Given the description of an element on the screen output the (x, y) to click on. 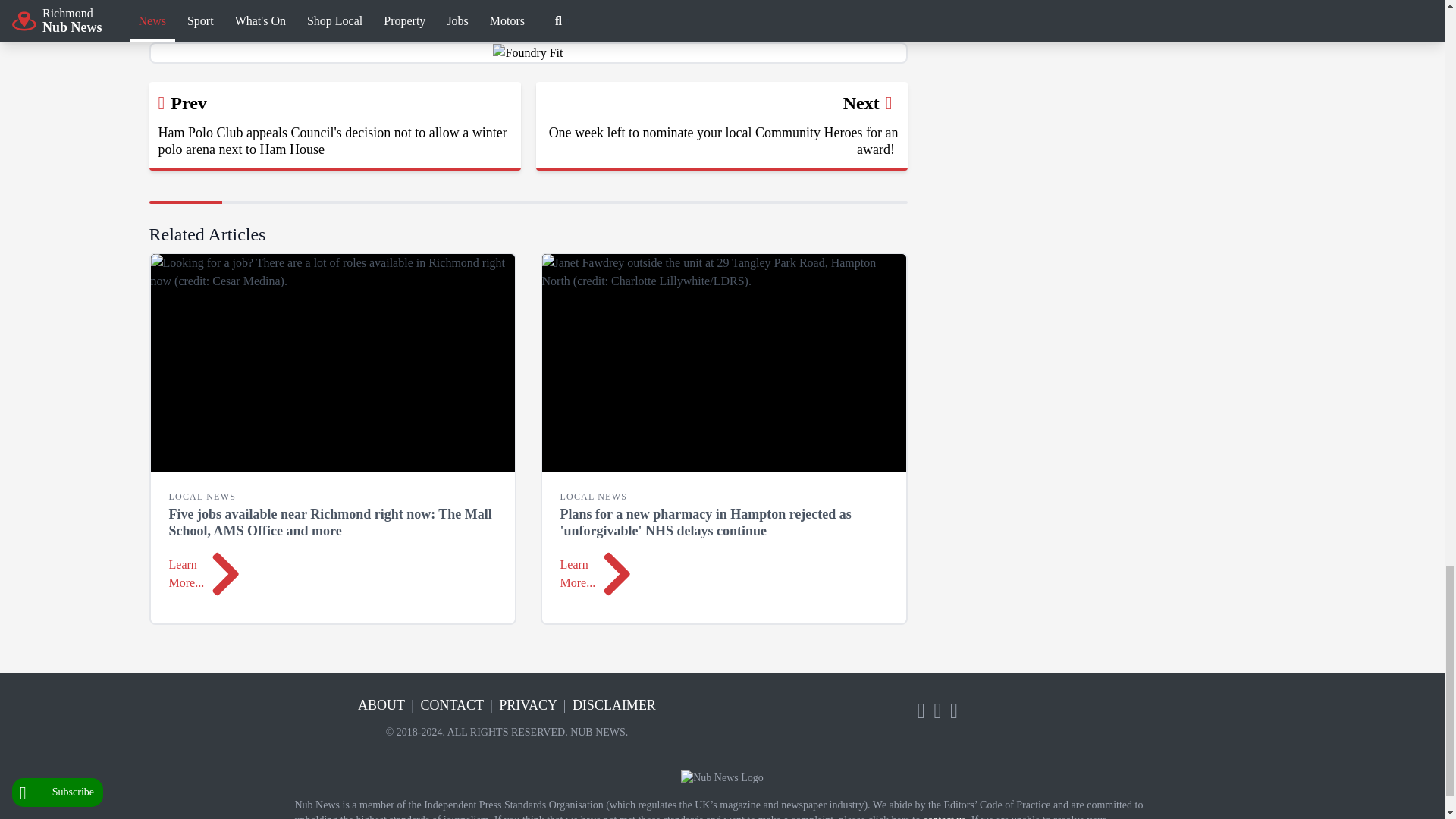
Foundry Fit (527, 53)
